Given the description of an element on the screen output the (x, y) to click on. 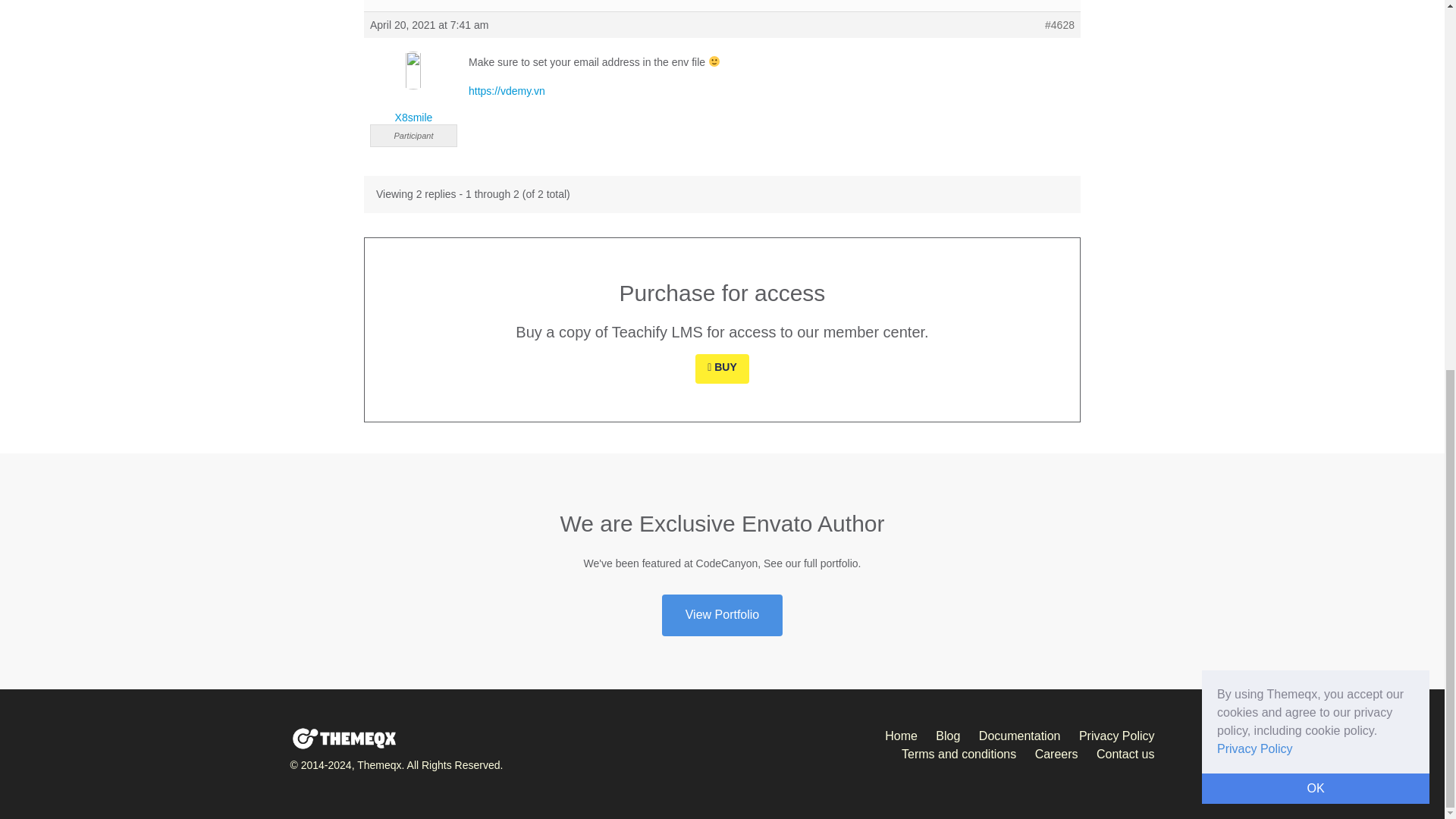
Terms and conditions (958, 753)
BUY (721, 368)
View Portfolio (722, 615)
View x8smile's profile (413, 87)
Careers (1056, 753)
Home (901, 735)
Documentation (1019, 735)
X8smile (413, 87)
Contact us (1125, 753)
Blog (947, 735)
